Given the description of an element on the screen output the (x, y) to click on. 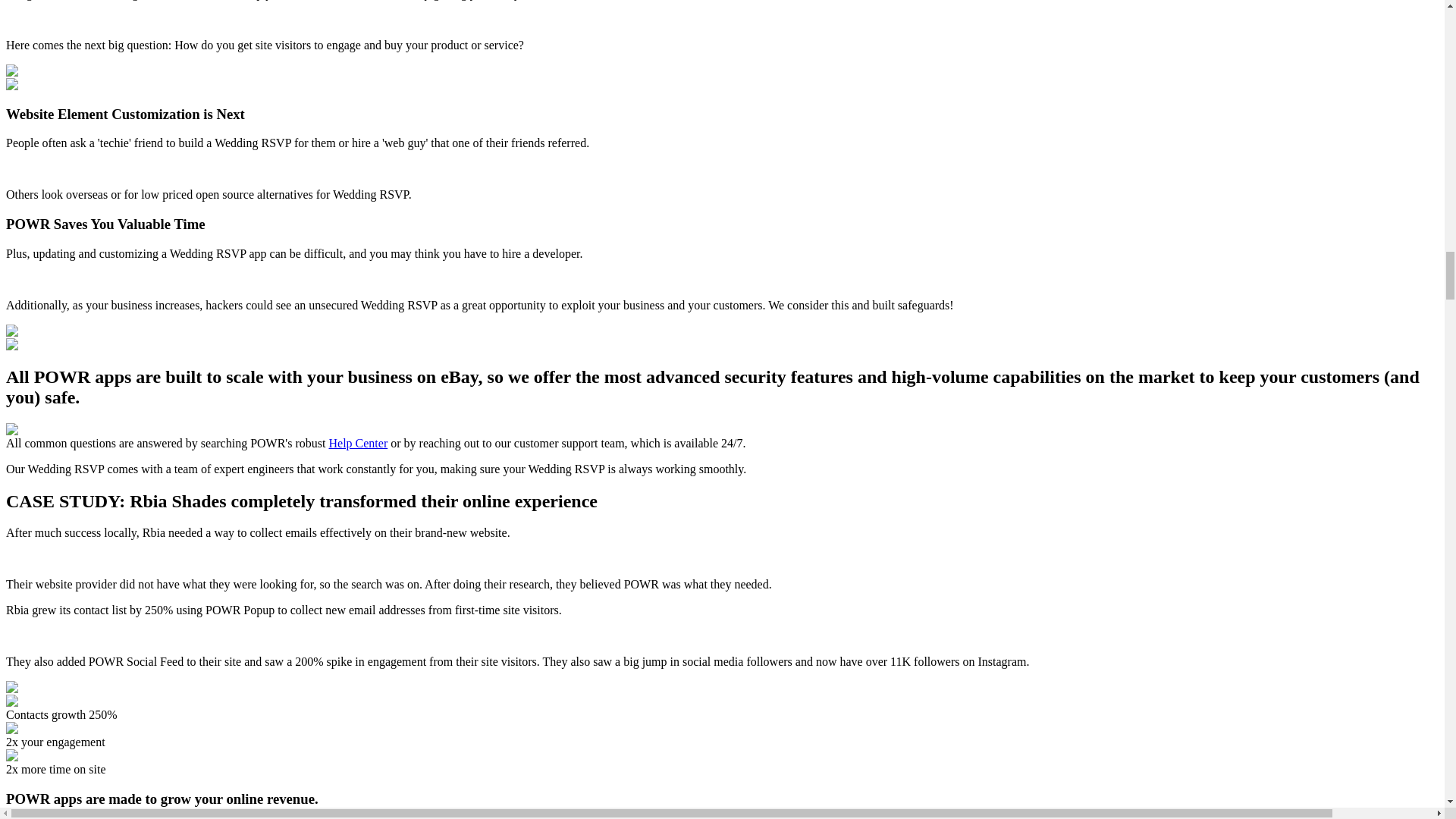
Help Center (358, 442)
